Given the description of an element on the screen output the (x, y) to click on. 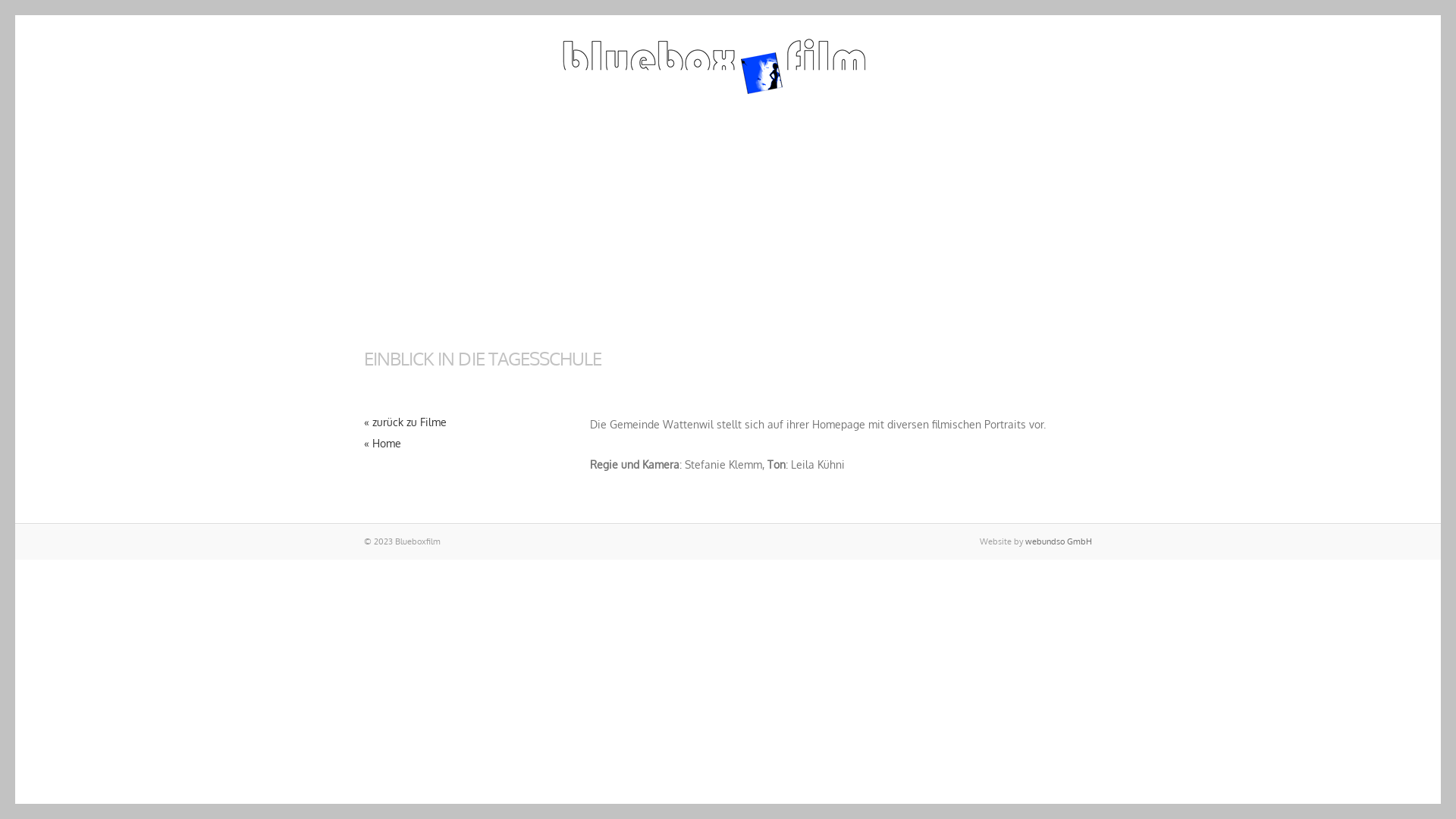
webundso GmbH Element type: text (1058, 541)
